Given the description of an element on the screen output the (x, y) to click on. 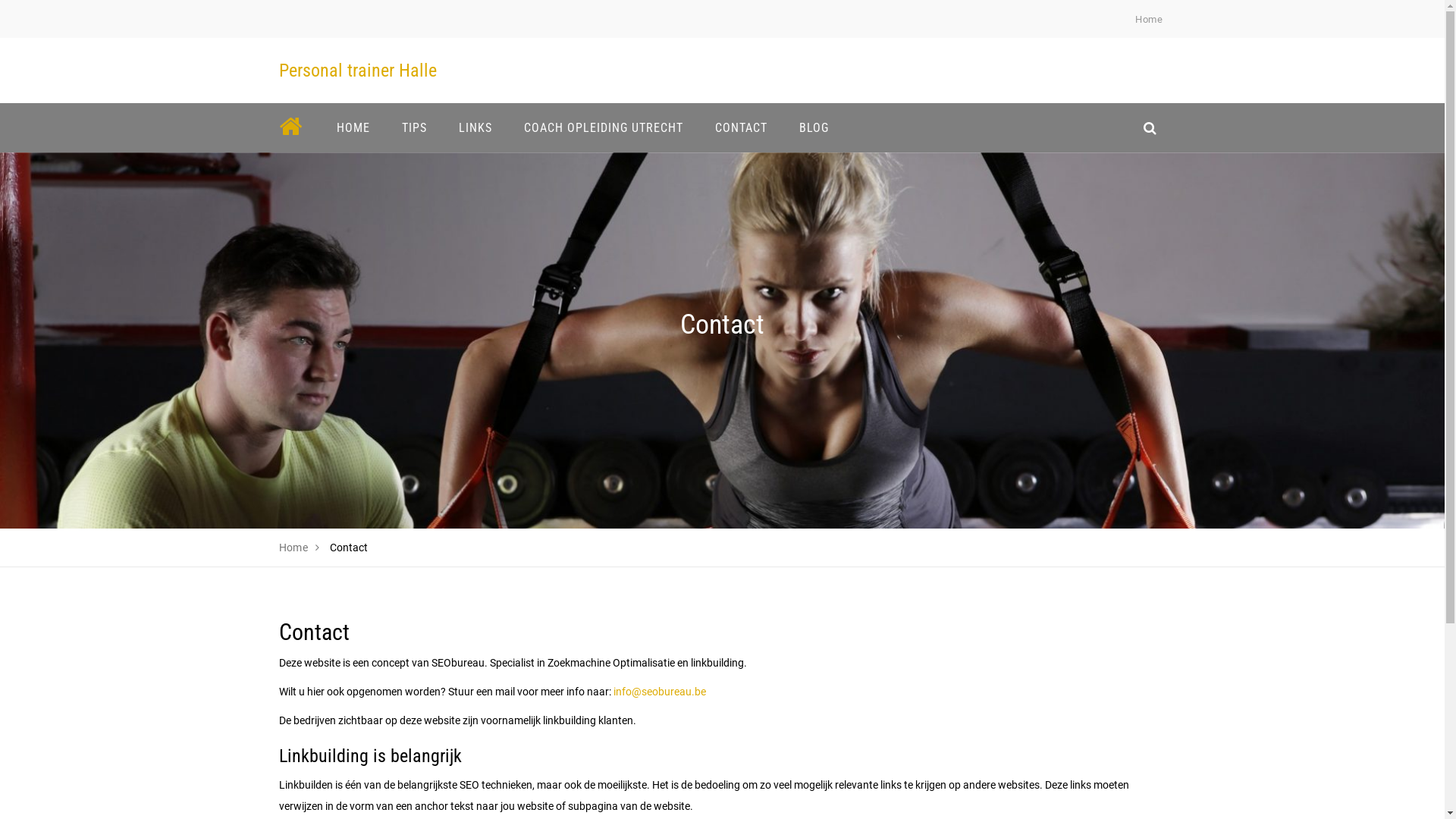
TIPS Element type: text (413, 127)
Home Element type: text (1148, 19)
Home Element type: text (293, 547)
info@seobureau.be Element type: text (658, 691)
BLOG Element type: text (812, 127)
COACH OPLEIDING UTRECHT Element type: text (603, 127)
HOME Element type: text (352, 127)
Personal trainer Halle Element type: text (357, 70)
CONTACT Element type: text (741, 127)
LINKS Element type: text (475, 127)
search_icon Element type: hover (1148, 127)
